Given the description of an element on the screen output the (x, y) to click on. 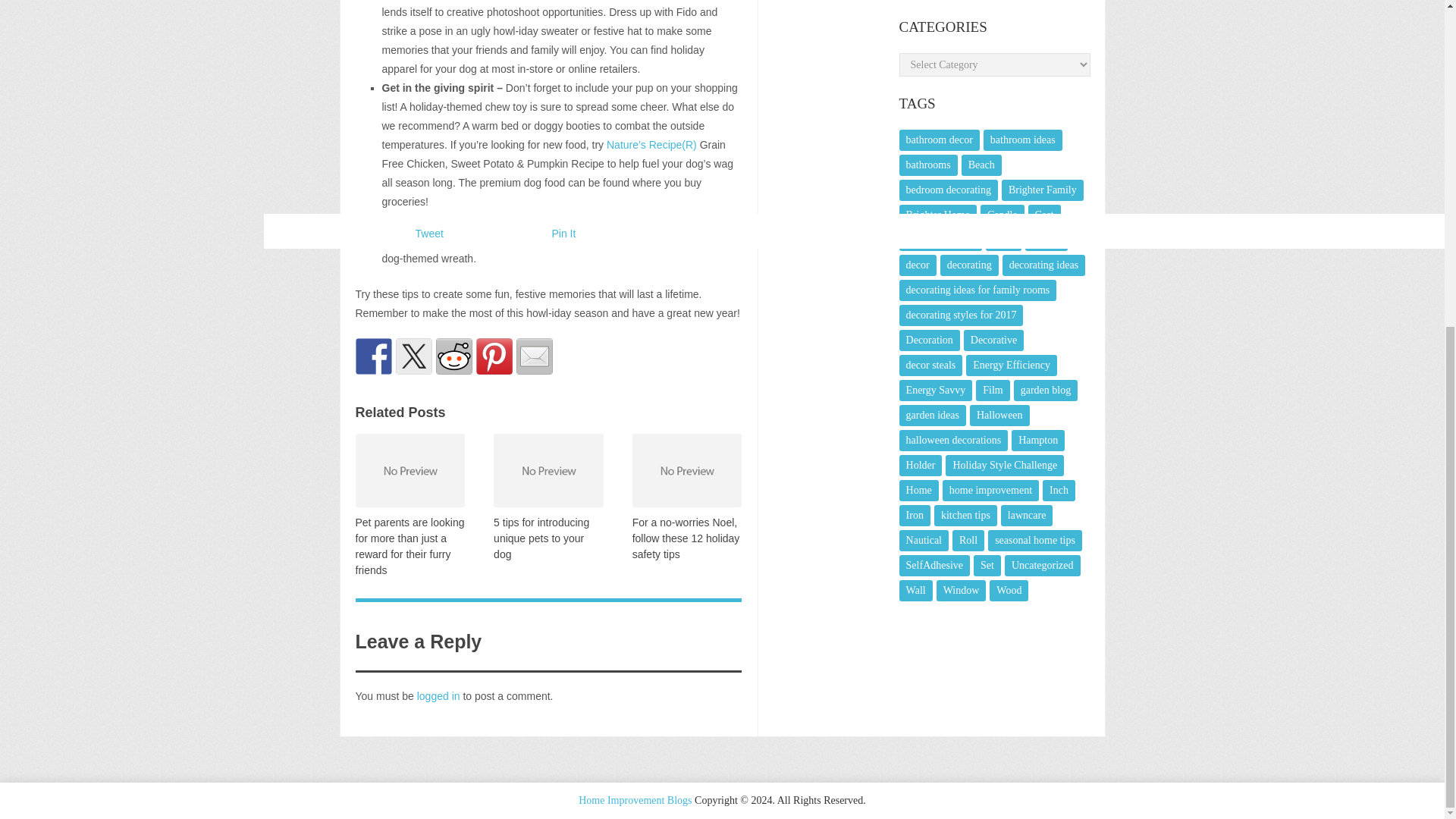
Share by email (533, 356)
Share on Twitter (414, 356)
Share on Reddit (453, 356)
5 tips for introducing unique pets to your dog (541, 537)
logged in (438, 695)
For a no-worries Noel, follow these 12 holiday safety tips (685, 537)
Pin it with Pinterest (494, 356)
Share on Facebook (373, 356)
